Given the description of an element on the screen output the (x, y) to click on. 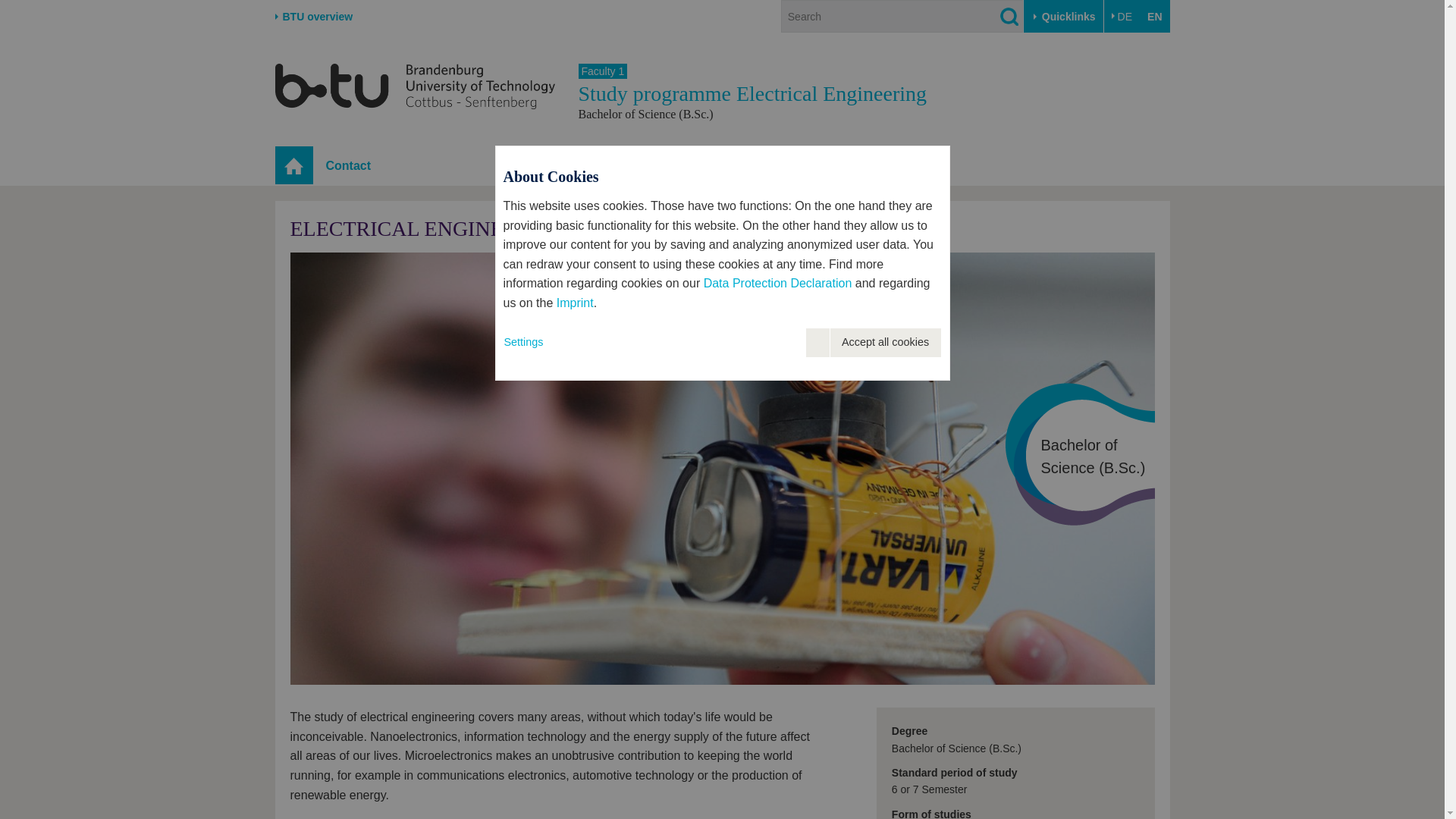
DE (1121, 16)
Quicklinks (1063, 16)
BTU overview (313, 16)
